Given the description of an element on the screen output the (x, y) to click on. 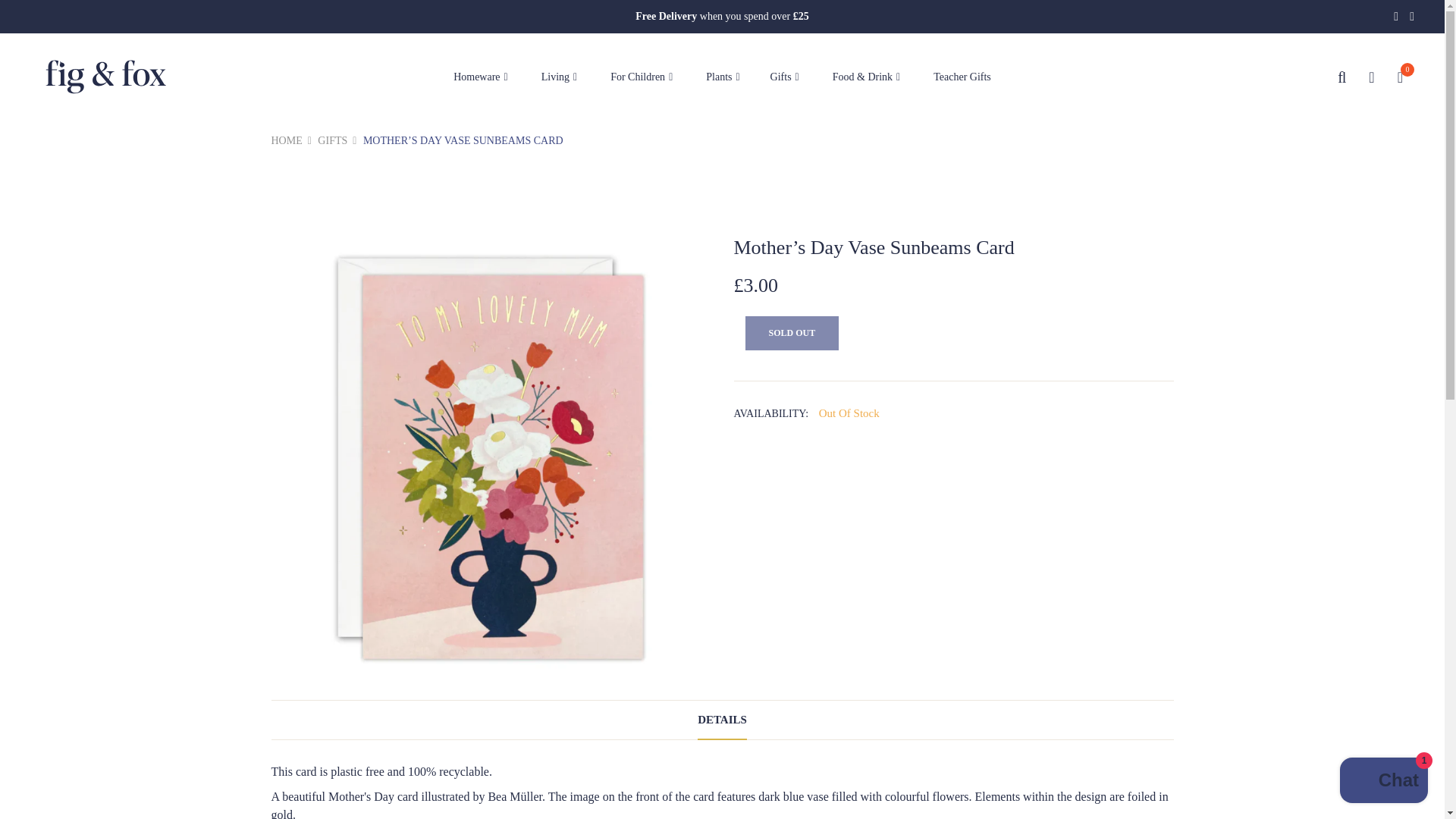
Living (558, 76)
Homeware (480, 76)
